Given the description of an element on the screen output the (x, y) to click on. 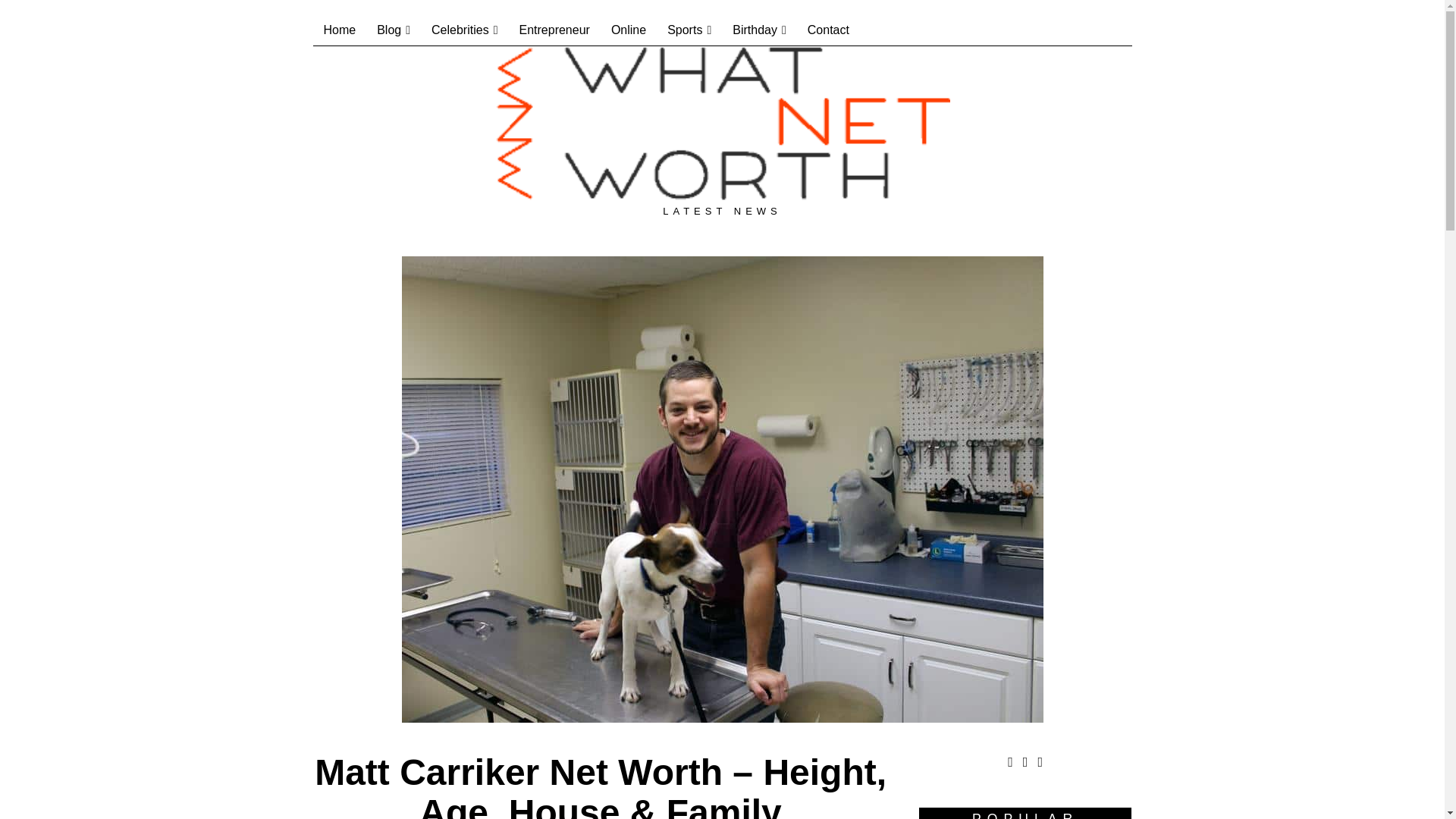
Celebrities (464, 30)
Sports (689, 30)
Online (627, 30)
Birthday (759, 30)
Contact (828, 30)
Entrepreneur (553, 30)
Blog (393, 30)
Home (339, 30)
